Given the description of an element on the screen output the (x, y) to click on. 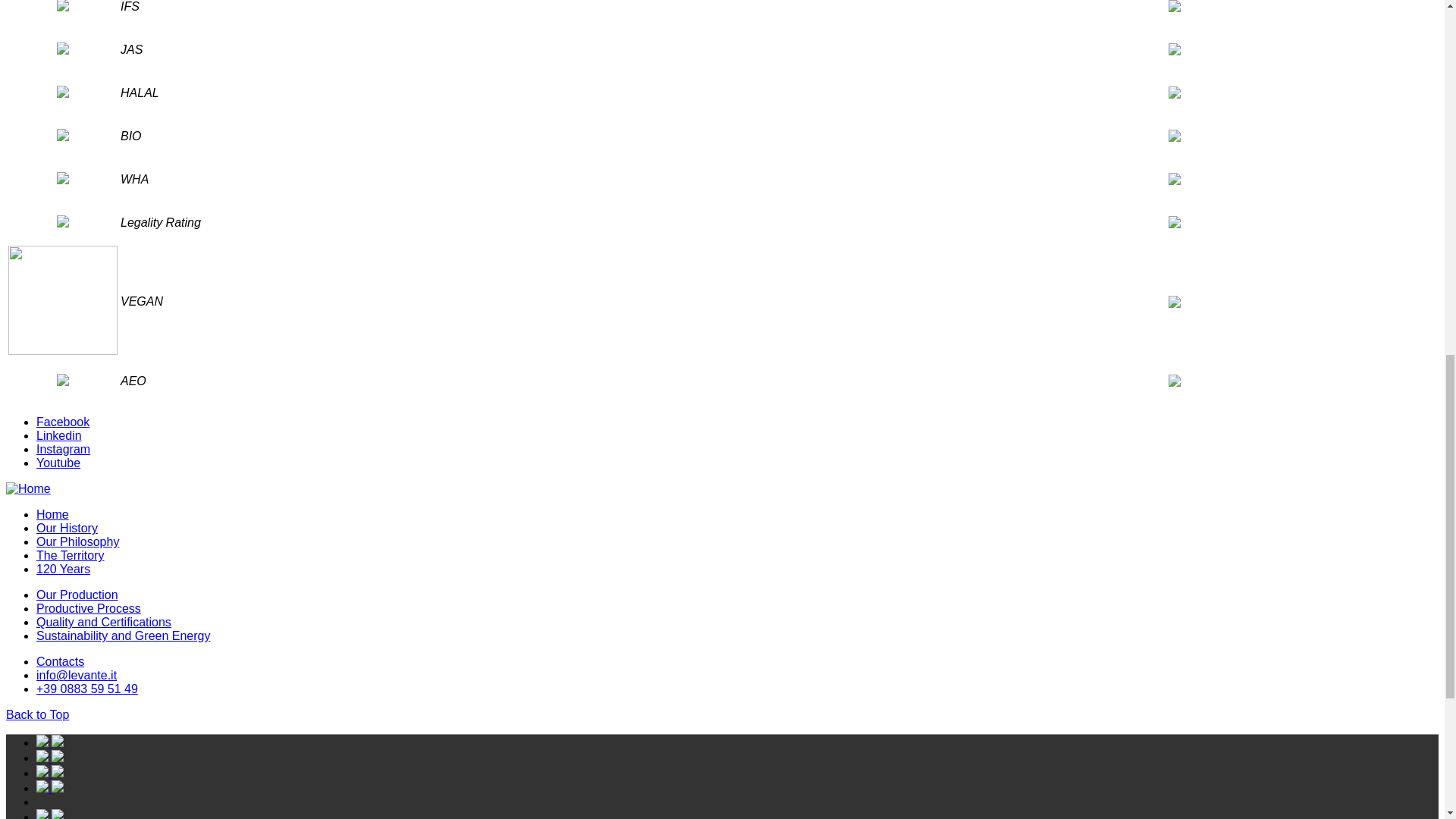
Youtube (58, 462)
Our History (66, 527)
Linkedin (58, 435)
Home (52, 513)
Instagram (63, 449)
Facebook (62, 421)
